Given the description of an element on the screen output the (x, y) to click on. 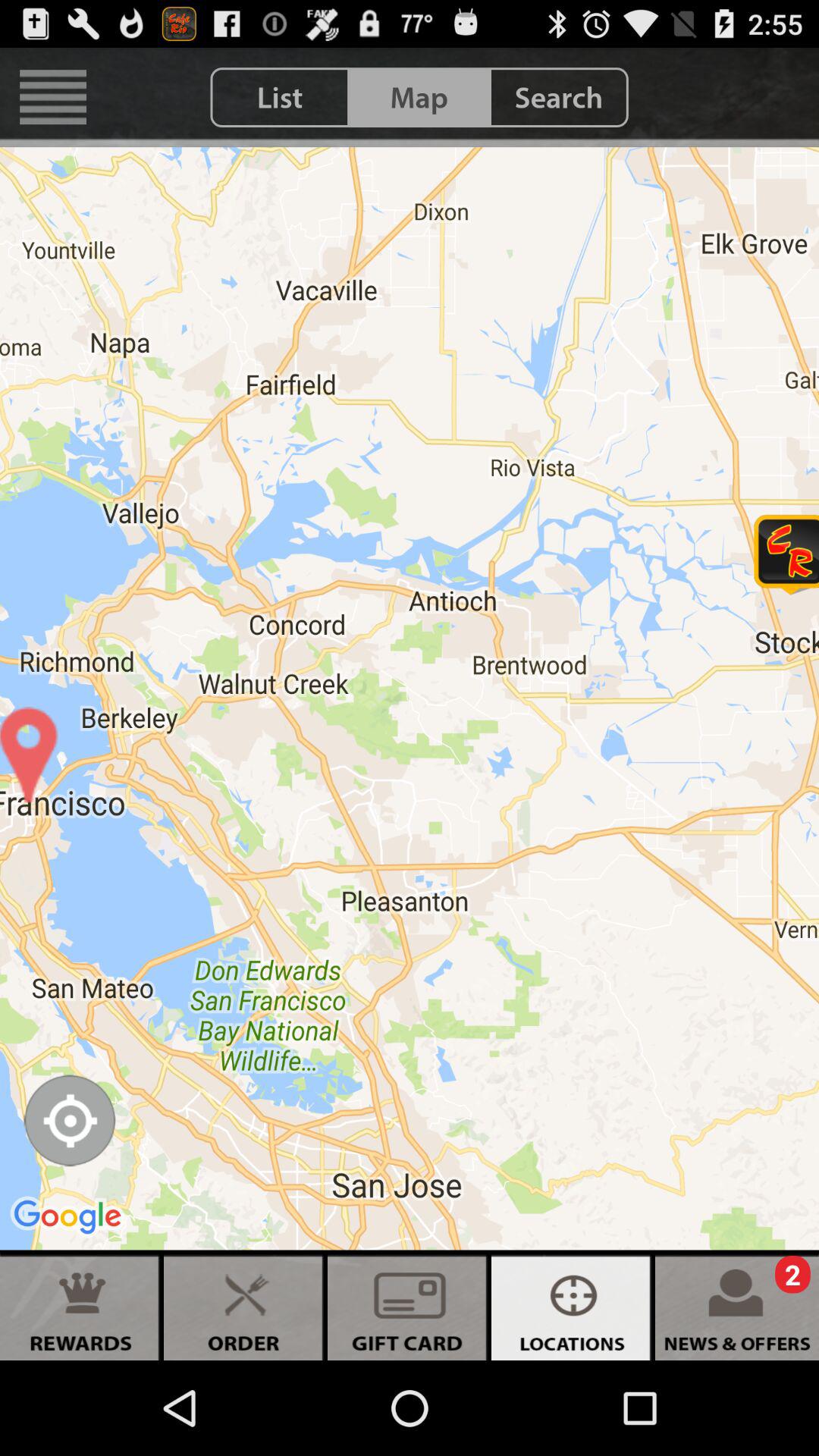
press item to the right of the map (558, 97)
